Given the description of an element on the screen output the (x, y) to click on. 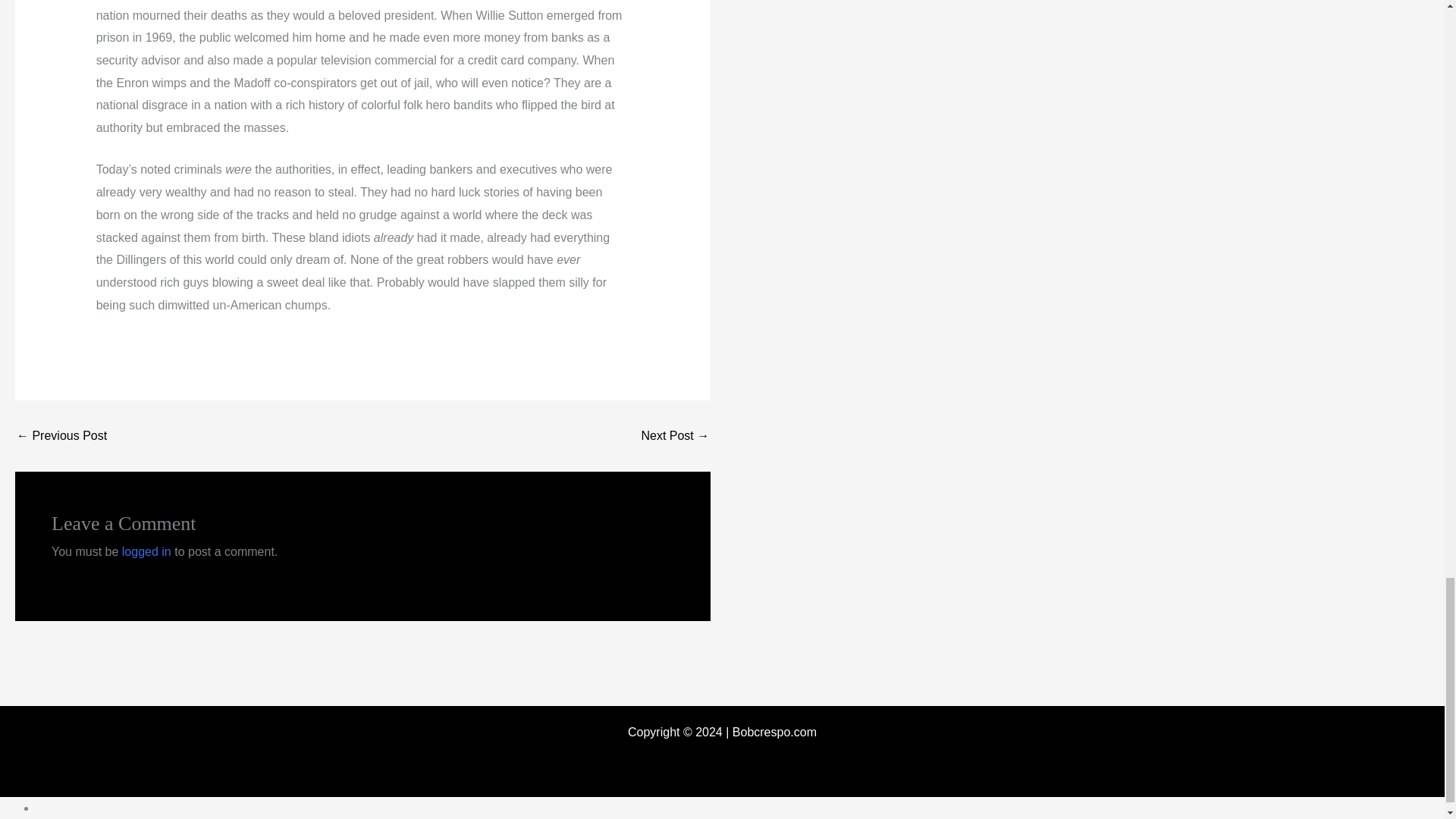
LIFE EXPLAINED, PART 466 (61, 435)
LIFE EXPLAINED, PART 467 (674, 435)
logged in (146, 551)
